Given the description of an element on the screen output the (x, y) to click on. 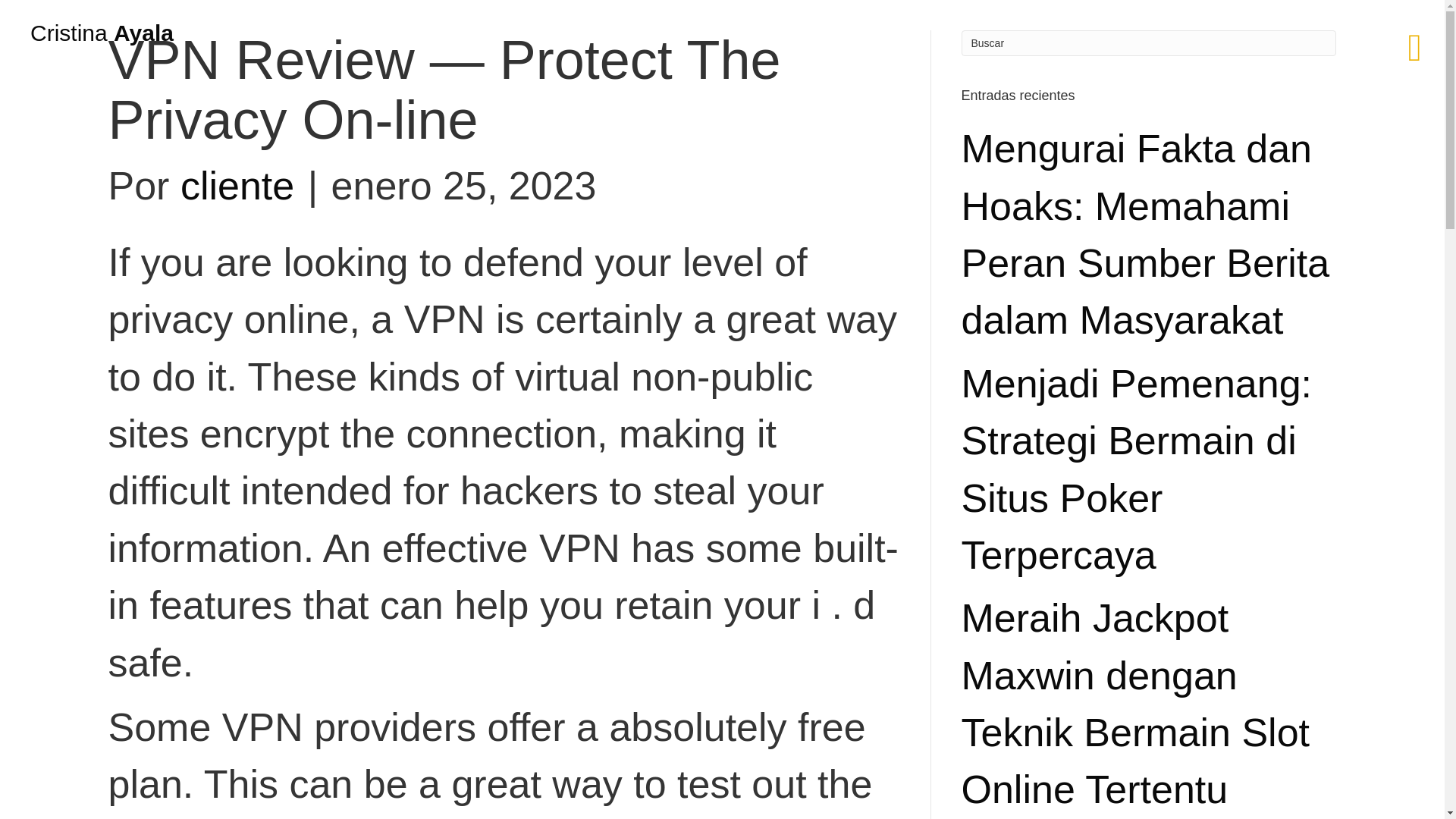
Menjadi Pemenang: Strategi Bermain di Situs Poker Terpercaya (1136, 469)
Buscar (1148, 43)
Buscar (1148, 43)
Cristina Ayala (101, 32)
Escribe y pulsa Enter para buscar. (1148, 43)
cliente (237, 185)
archivo (88, 242)
